Given the description of an element on the screen output the (x, y) to click on. 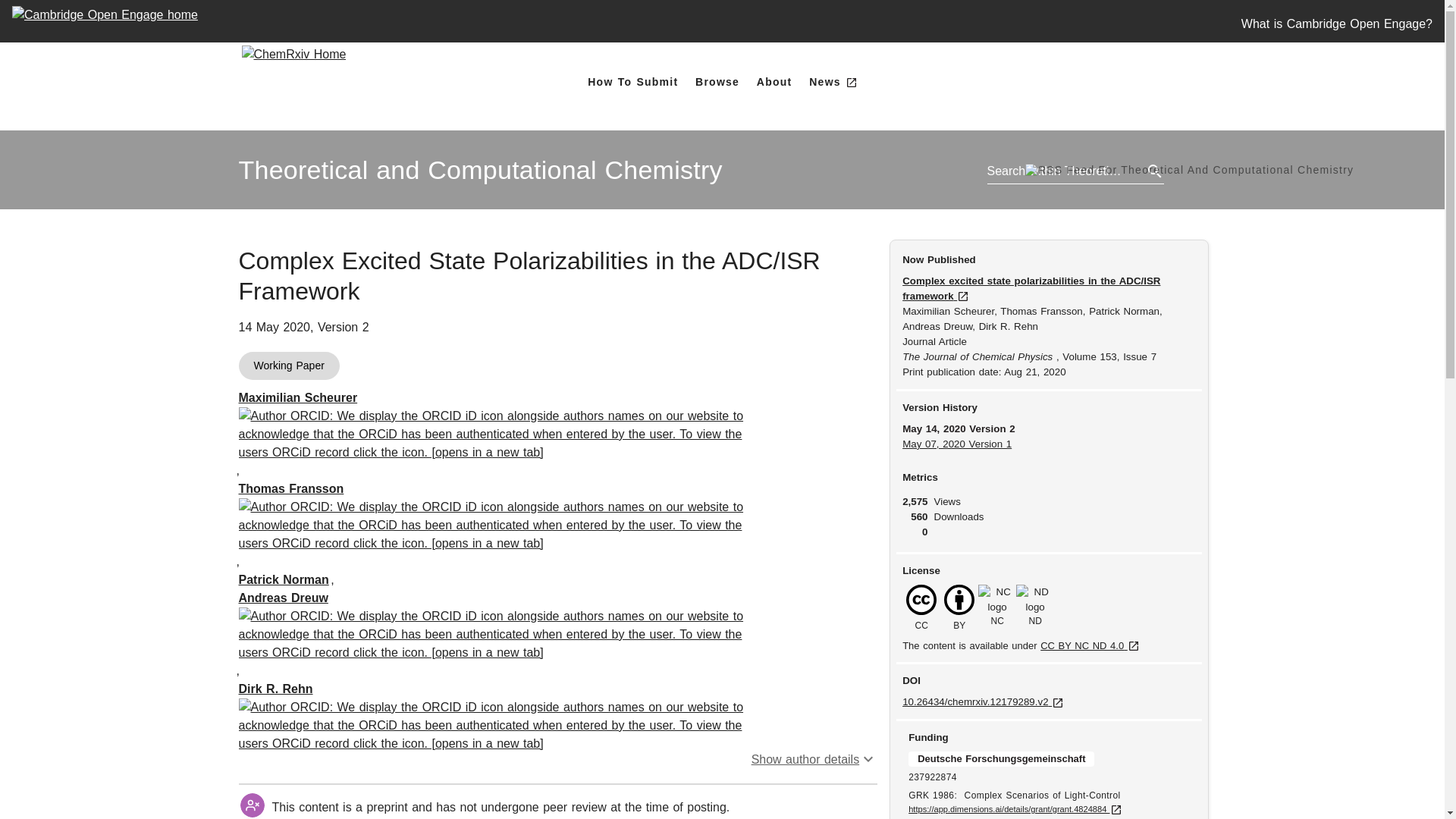
Maximilian Scheurer (297, 397)
Patrick Norman (283, 579)
Andreas Dreuw (282, 597)
About (773, 81)
Browse (716, 81)
Show author details (814, 758)
Thomas Fransson (290, 488)
Dirk R. Rehn (480, 169)
What is Cambridge Open Engage? (275, 688)
